Given the description of an element on the screen output the (x, y) to click on. 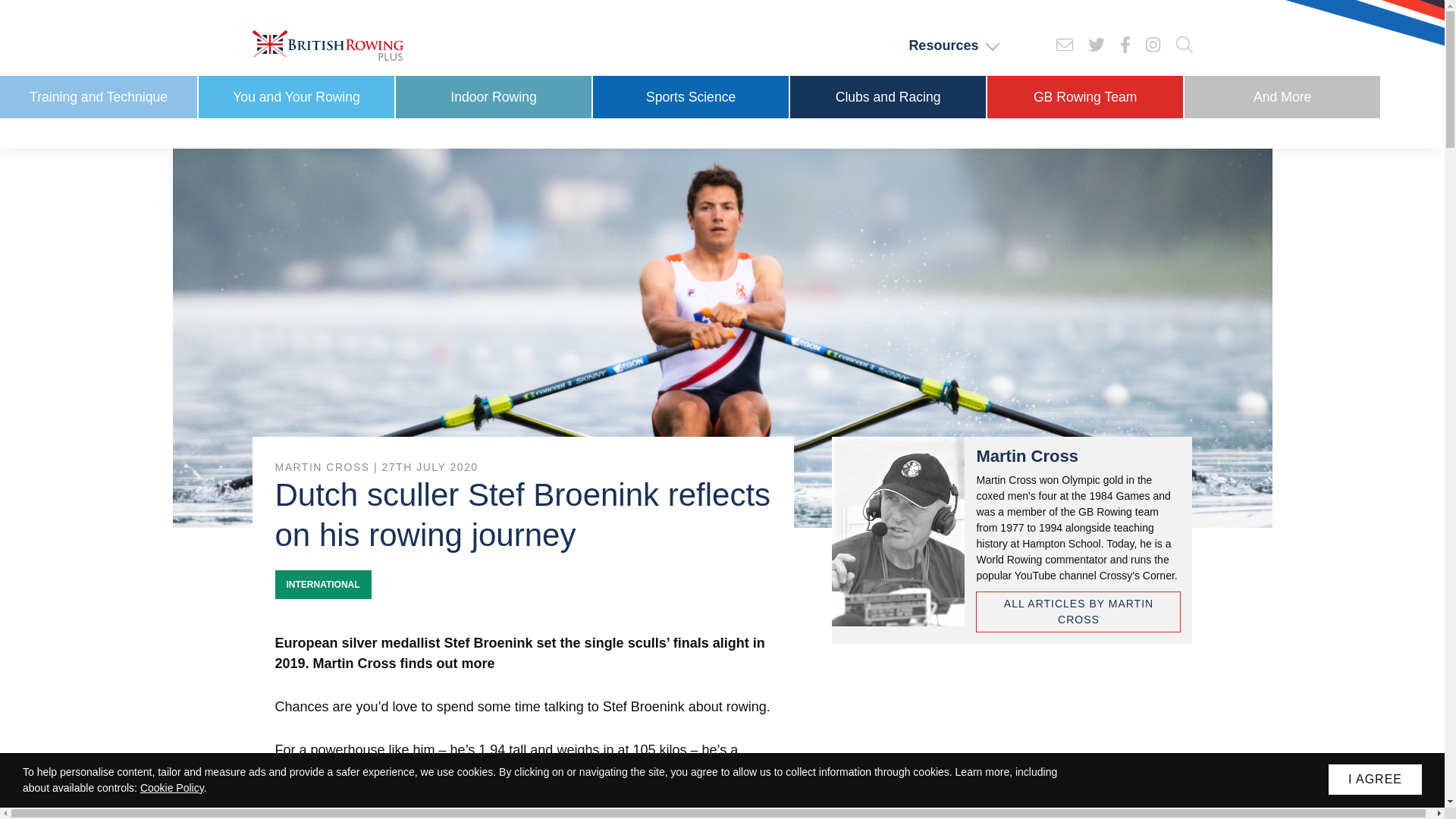
Clubs and Racing (887, 96)
Resources (953, 45)
Training and Technique (98, 96)
GB Rowing Team (1084, 96)
ALL ARTICLES BY MARTIN CROSS (1077, 611)
INTERNATIONAL (323, 584)
MARTIN CROSS (322, 467)
Sports Science (690, 96)
You and Your Rowing (296, 96)
Indoor Rowing (493, 96)
